Given the description of an element on the screen output the (x, y) to click on. 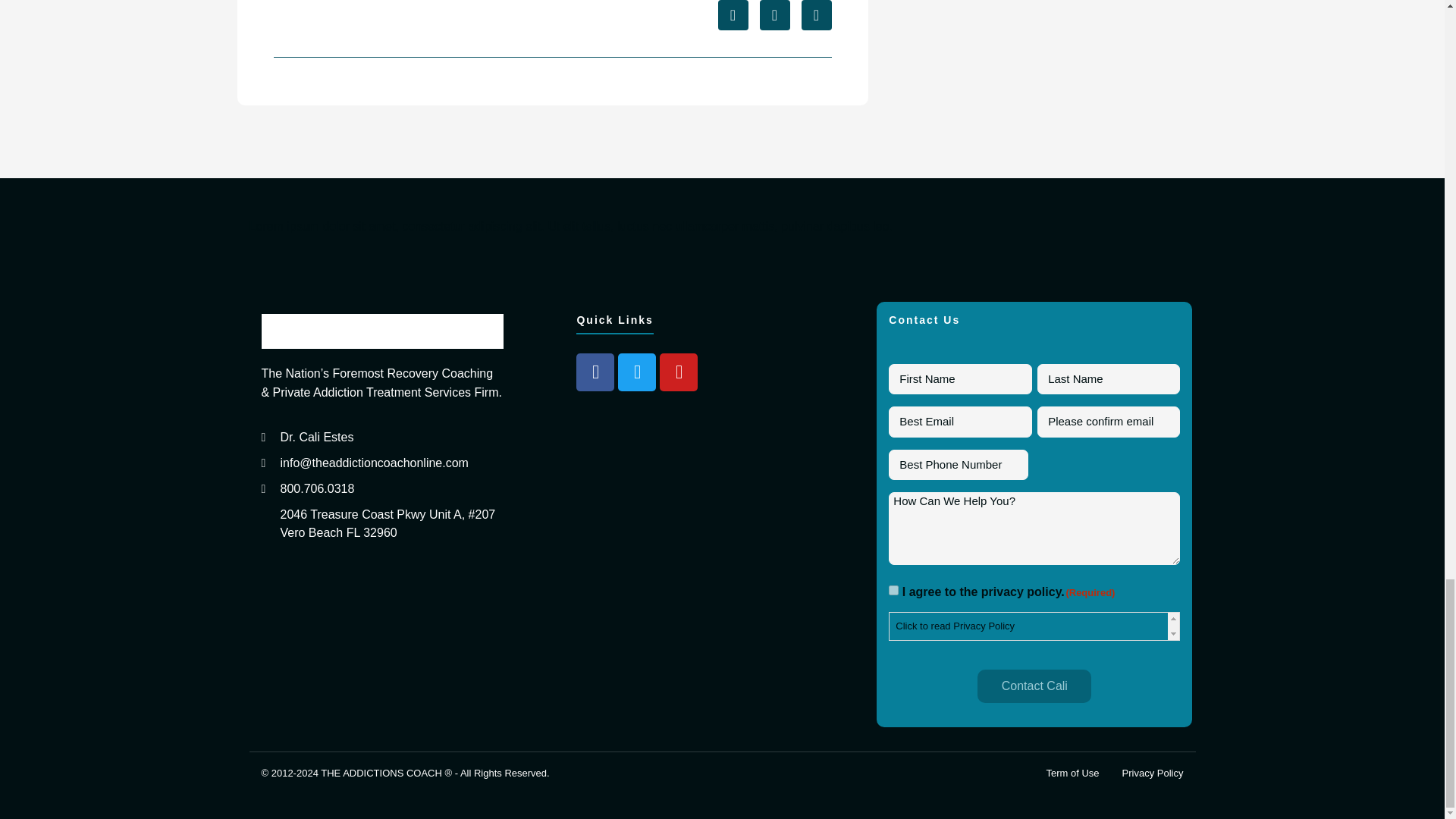
Contact Cali (1033, 685)
1 (893, 590)
